Given the description of an element on the screen output the (x, y) to click on. 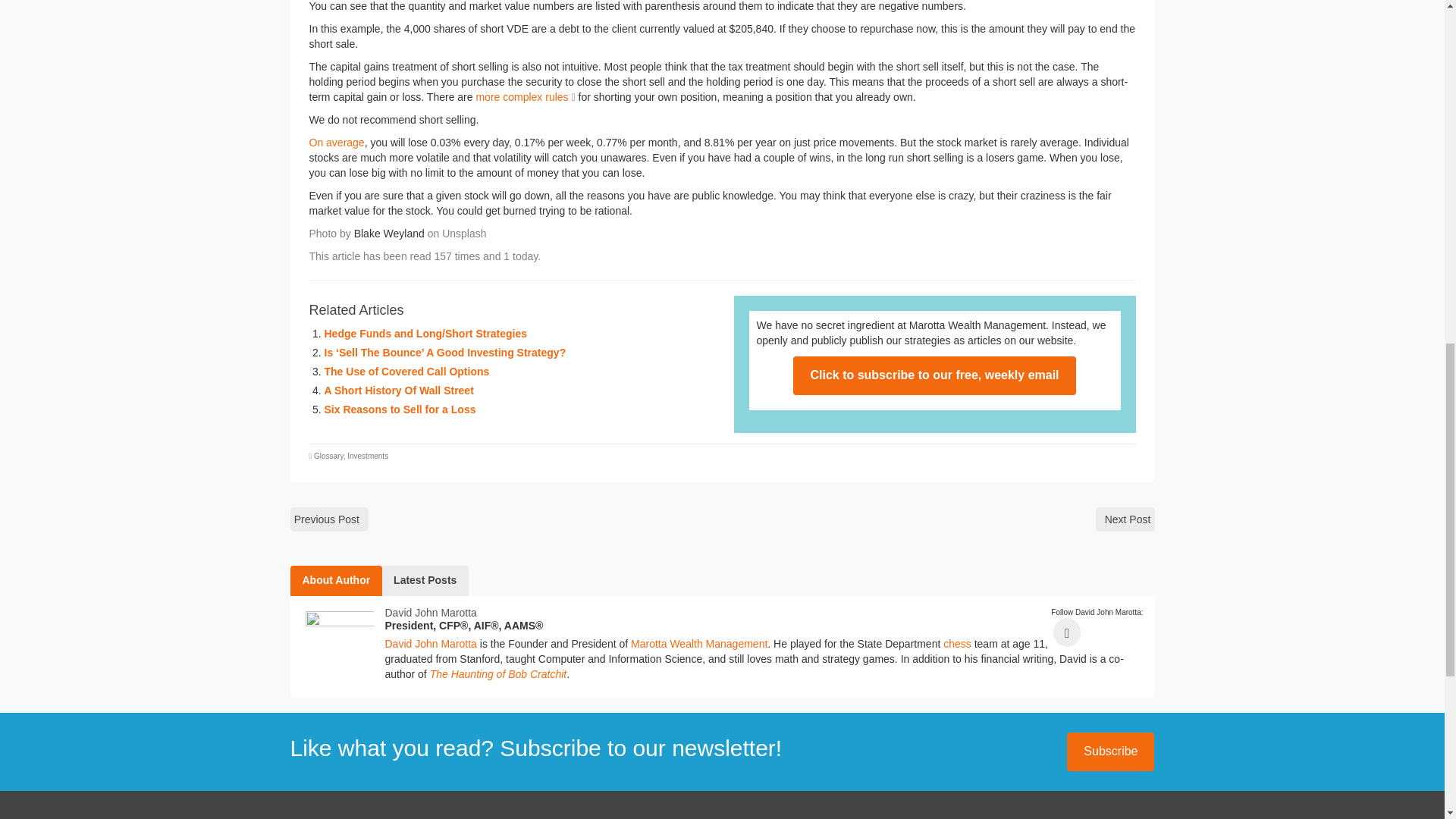
Six Reasons to Sell for a Loss (400, 409)
The Use of Covered Call Options (406, 371)
Follow  David John Marotta on linkedin (1066, 632)
A Short History Of Wall Street (399, 390)
